Given the description of an element on the screen output the (x, y) to click on. 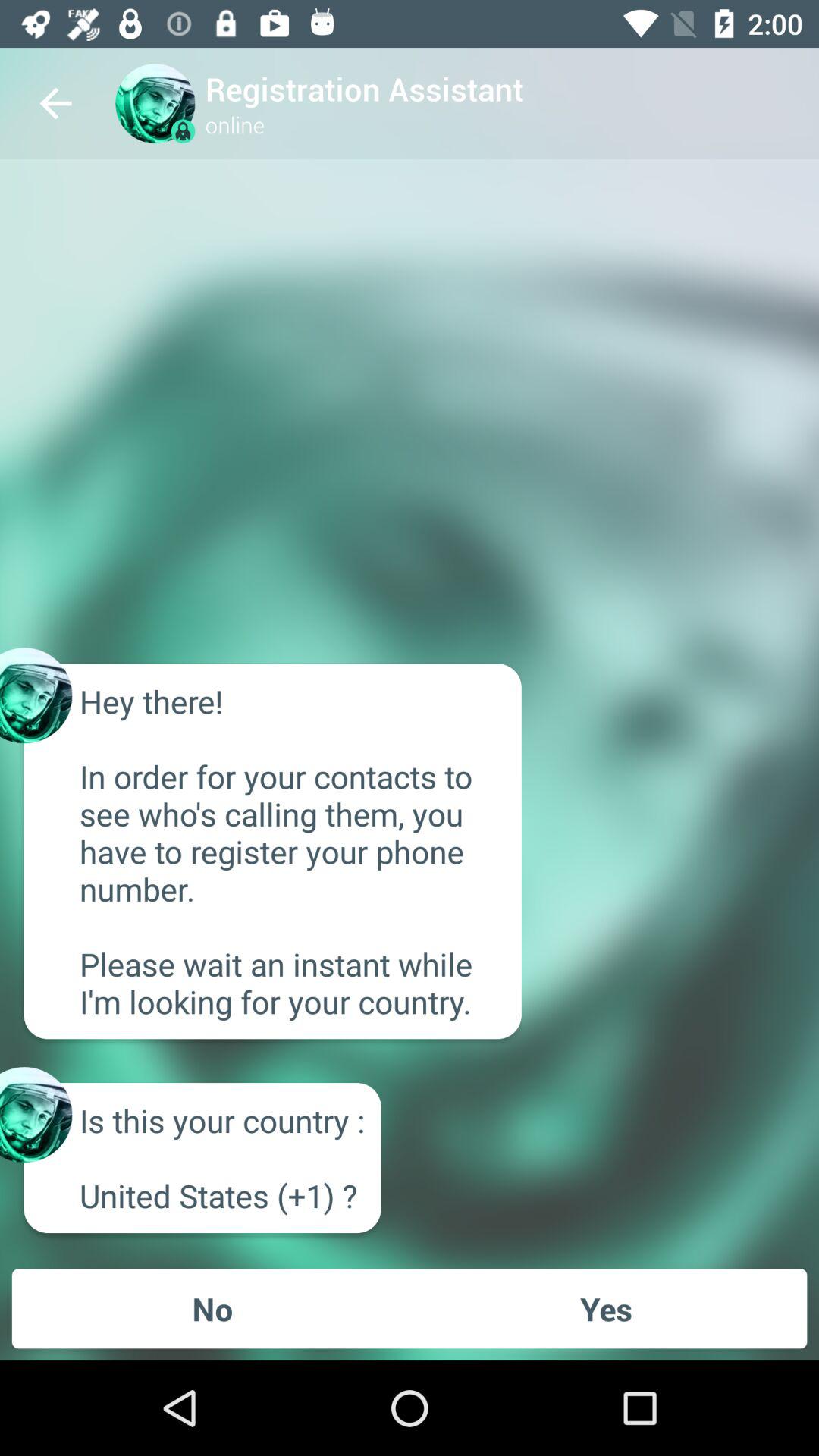
tap no (212, 1308)
